Given the description of an element on the screen output the (x, y) to click on. 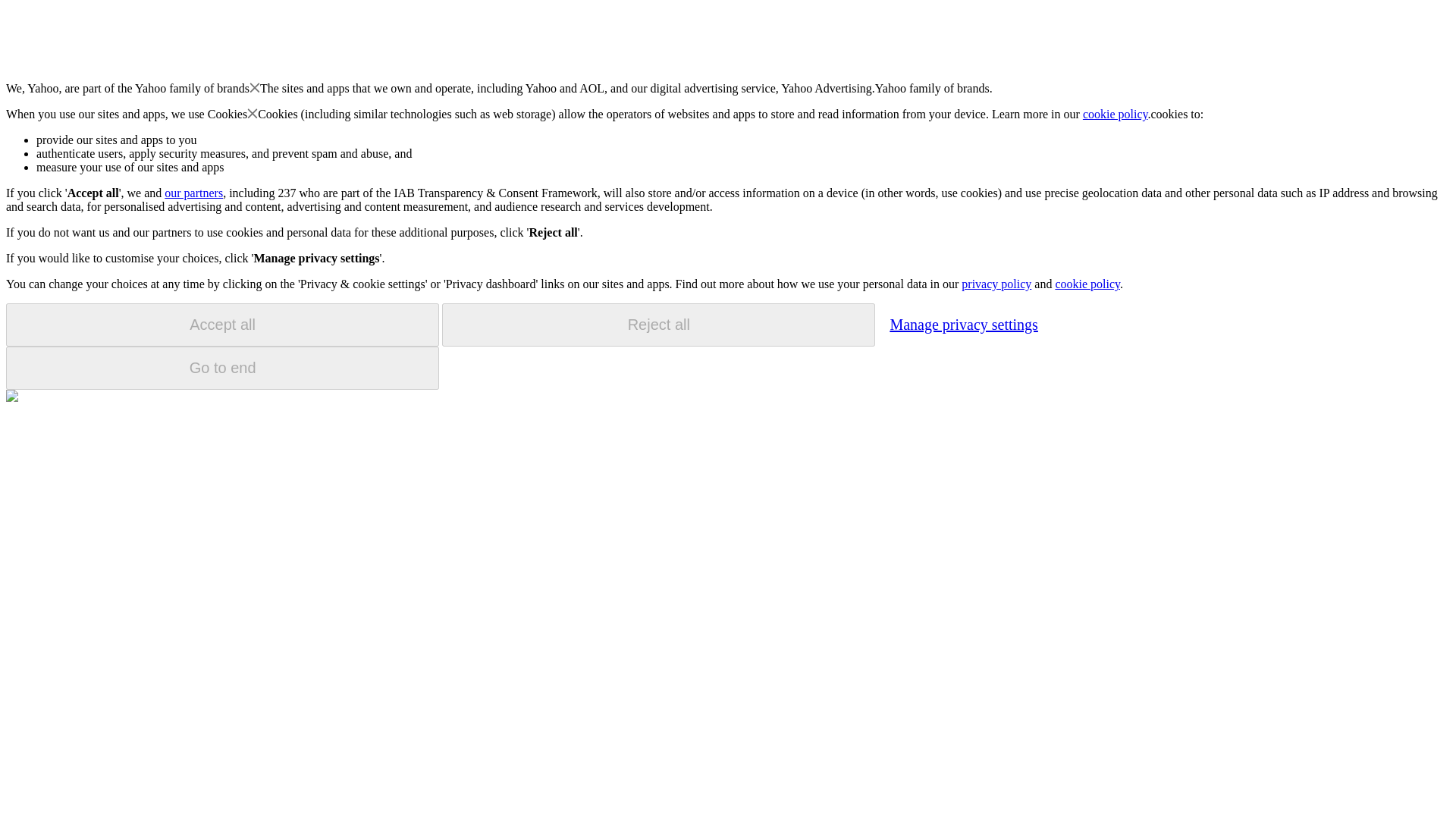
Accept all (222, 324)
Go to end (222, 367)
cookie policy (1086, 283)
privacy policy (995, 283)
our partners (193, 192)
Manage privacy settings (963, 323)
Reject all (658, 324)
cookie policy (1115, 113)
